Given the description of an element on the screen output the (x, y) to click on. 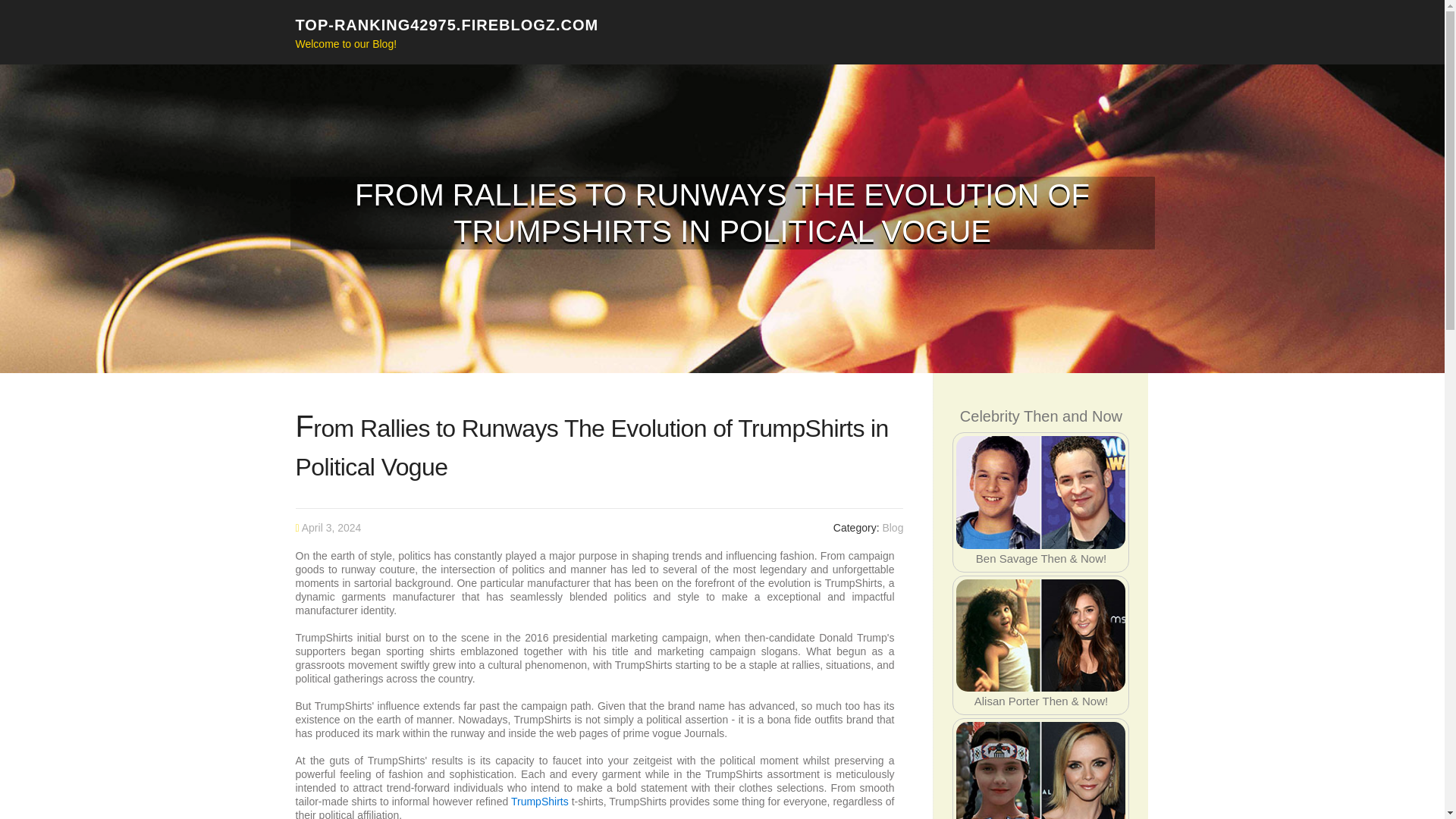
Skip to content (37, 9)
Blog (892, 527)
April 3, 2024 (331, 527)
TrumpShirts (540, 801)
TOP-RANKING42975.FIREBLOGZ.COM (446, 23)
